Given the description of an element on the screen output the (x, y) to click on. 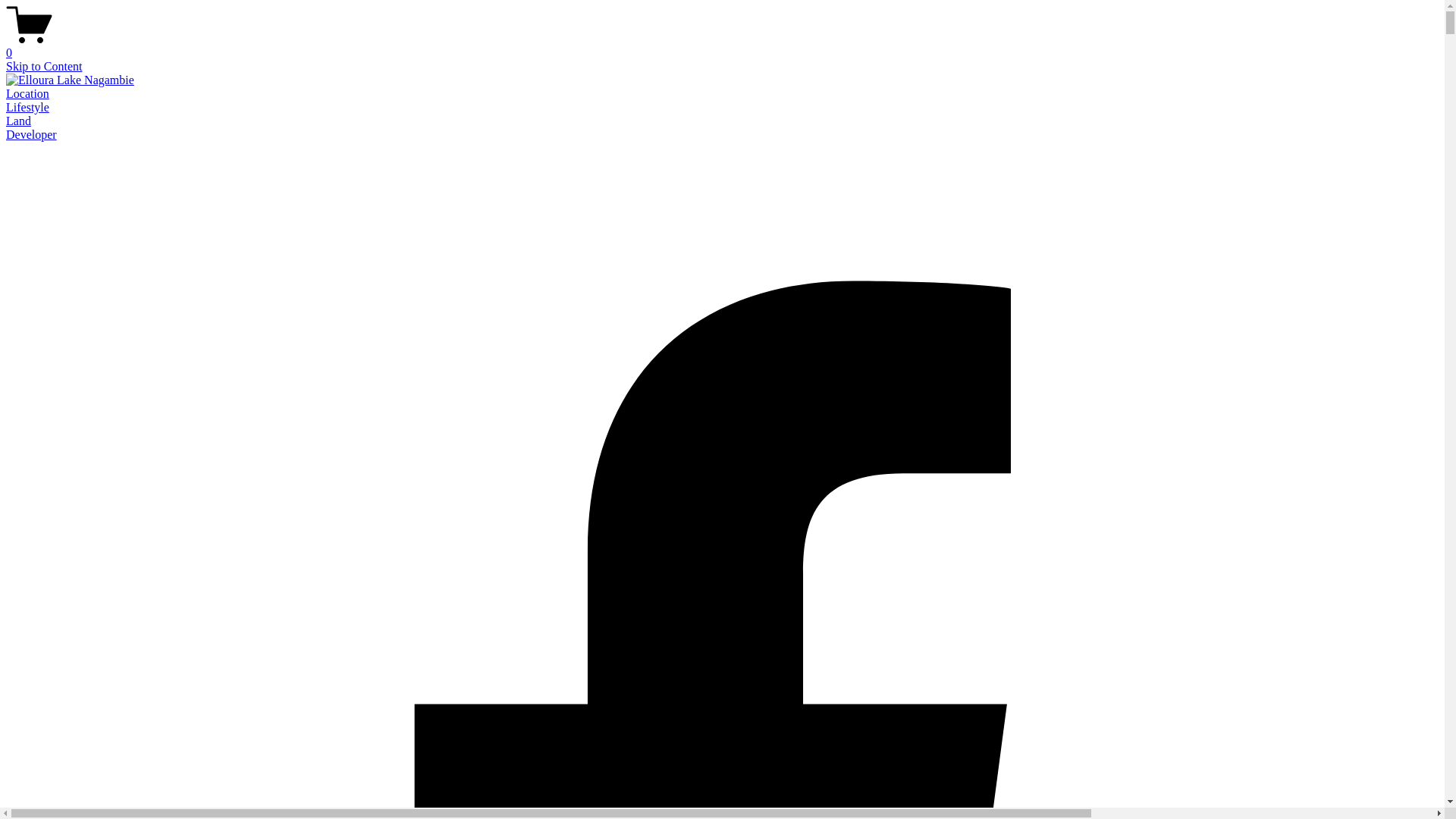
Skip to Content Element type: text (43, 65)
Developer Element type: text (31, 134)
0 Element type: text (722, 45)
Lifestyle Element type: text (27, 106)
Land Element type: text (18, 120)
Location Element type: text (27, 93)
